Given the description of an element on the screen output the (x, y) to click on. 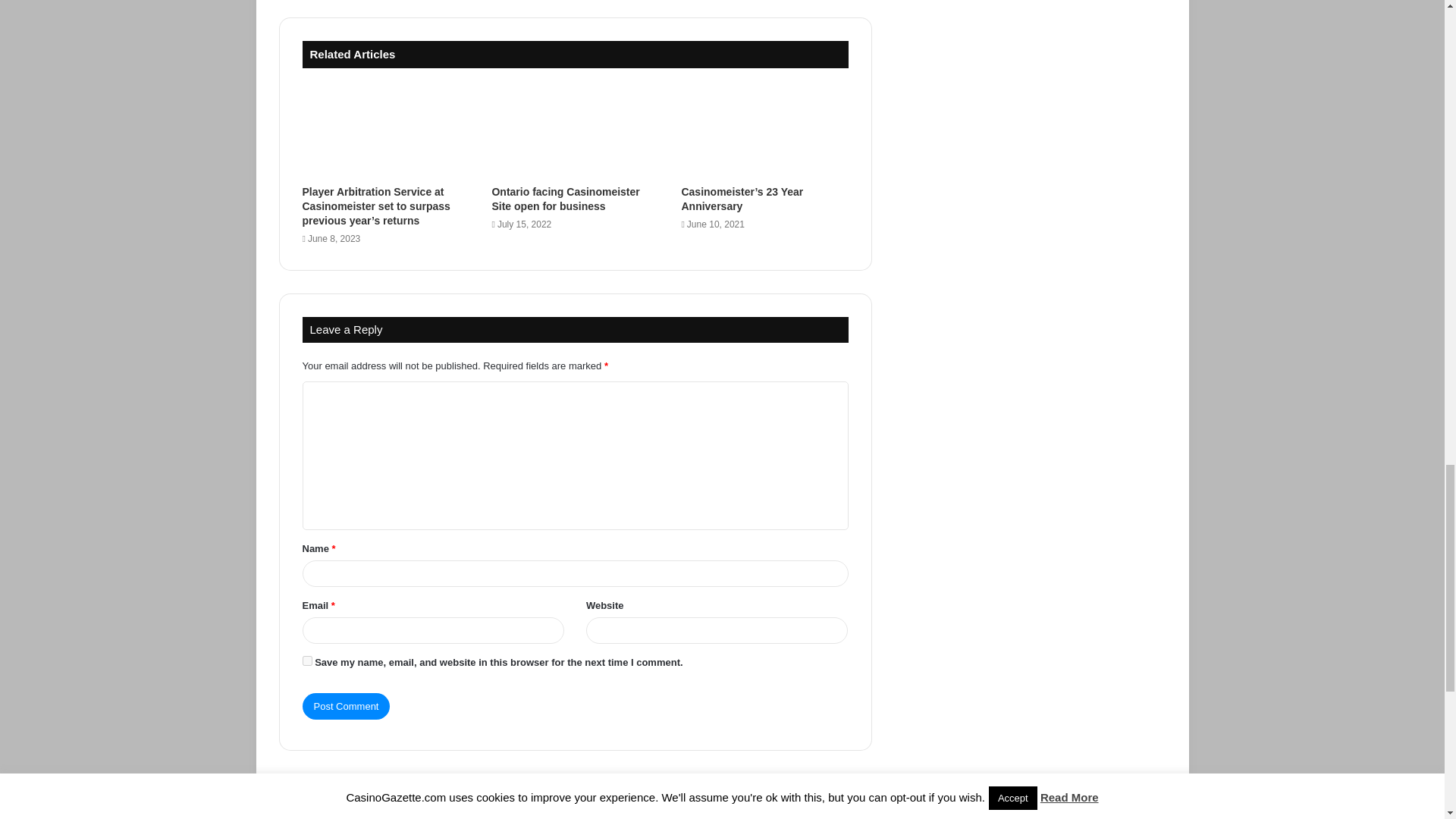
Post Comment (345, 705)
yes (306, 660)
